Given the description of an element on the screen output the (x, y) to click on. 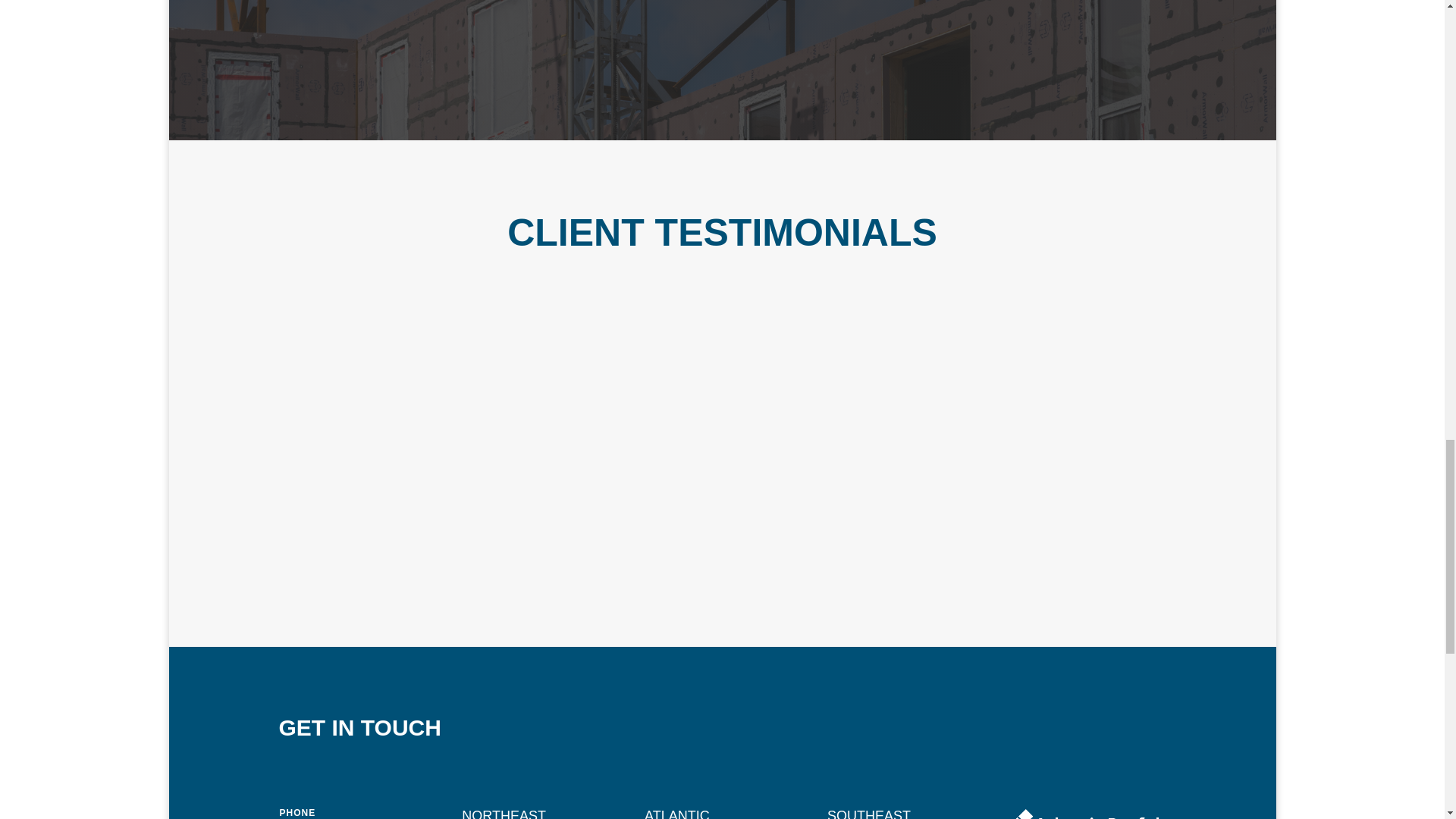
Atlantic Prefab Logo (1088, 814)
